Given the description of an element on the screen output the (x, y) to click on. 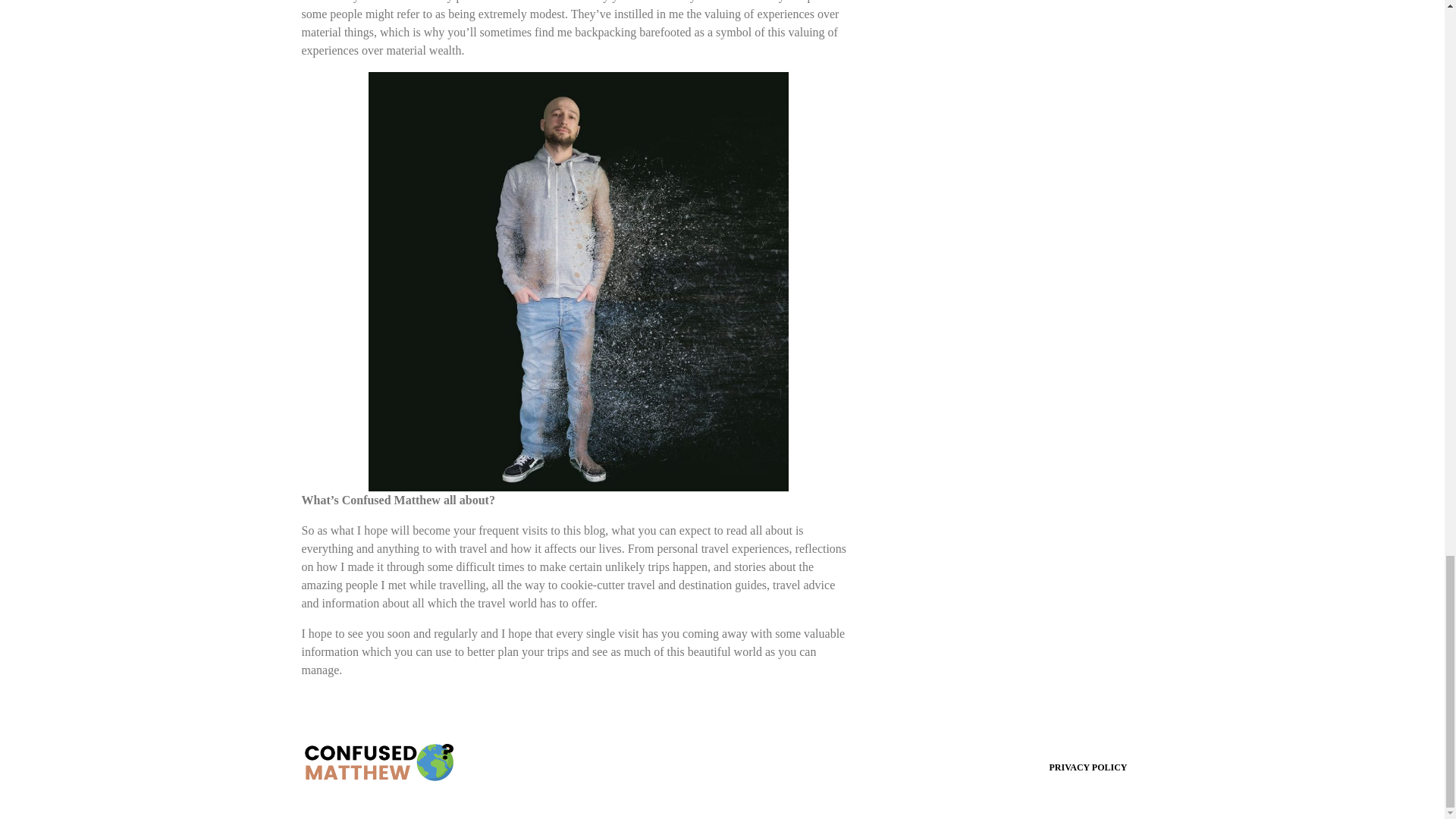
PRIVACY POLICY (1087, 767)
